Given the description of an element on the screen output the (x, y) to click on. 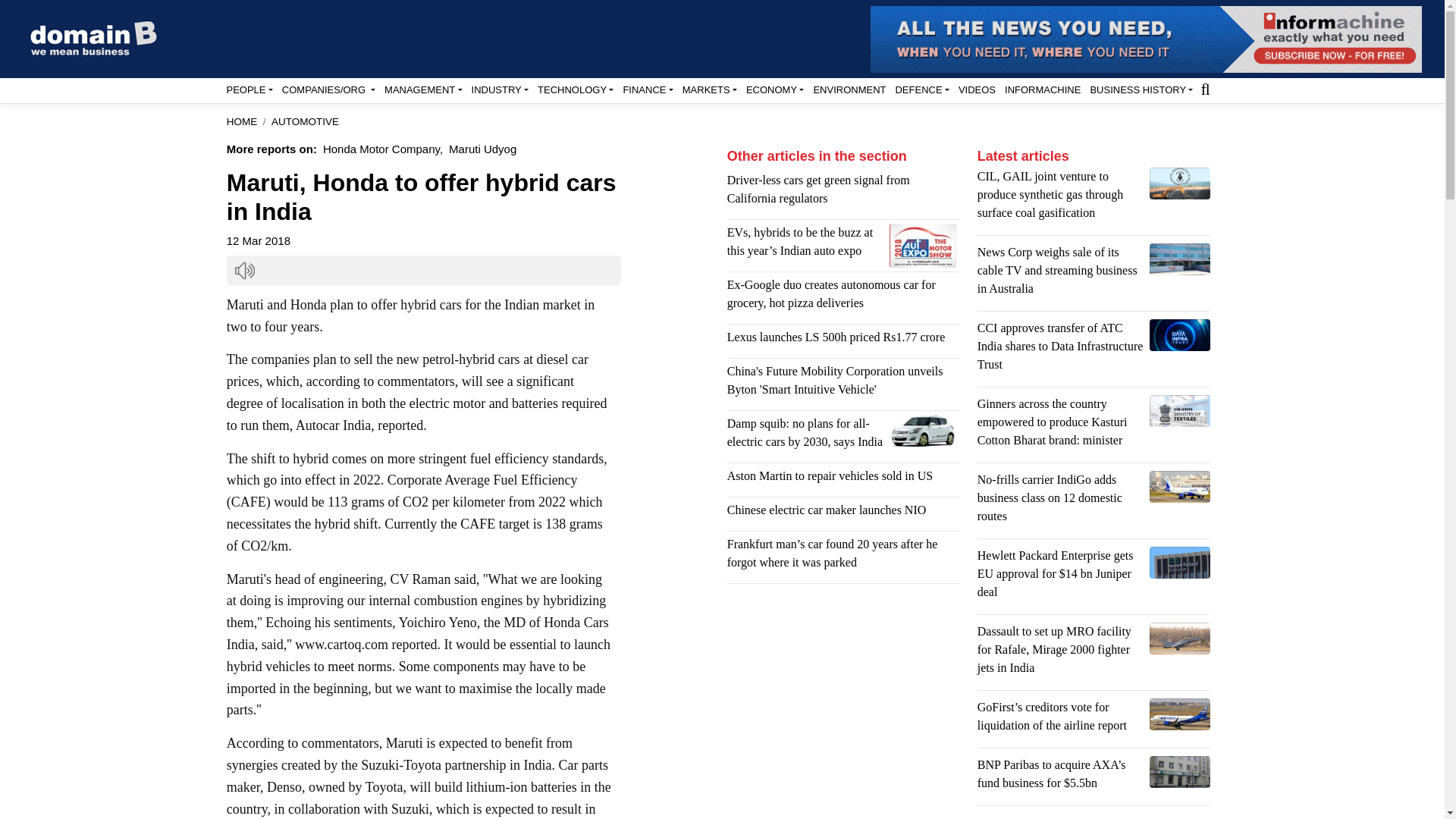
Advertisement (843, 707)
Click here to listen (244, 270)
PEOPLE (248, 89)
